Given the description of an element on the screen output the (x, y) to click on. 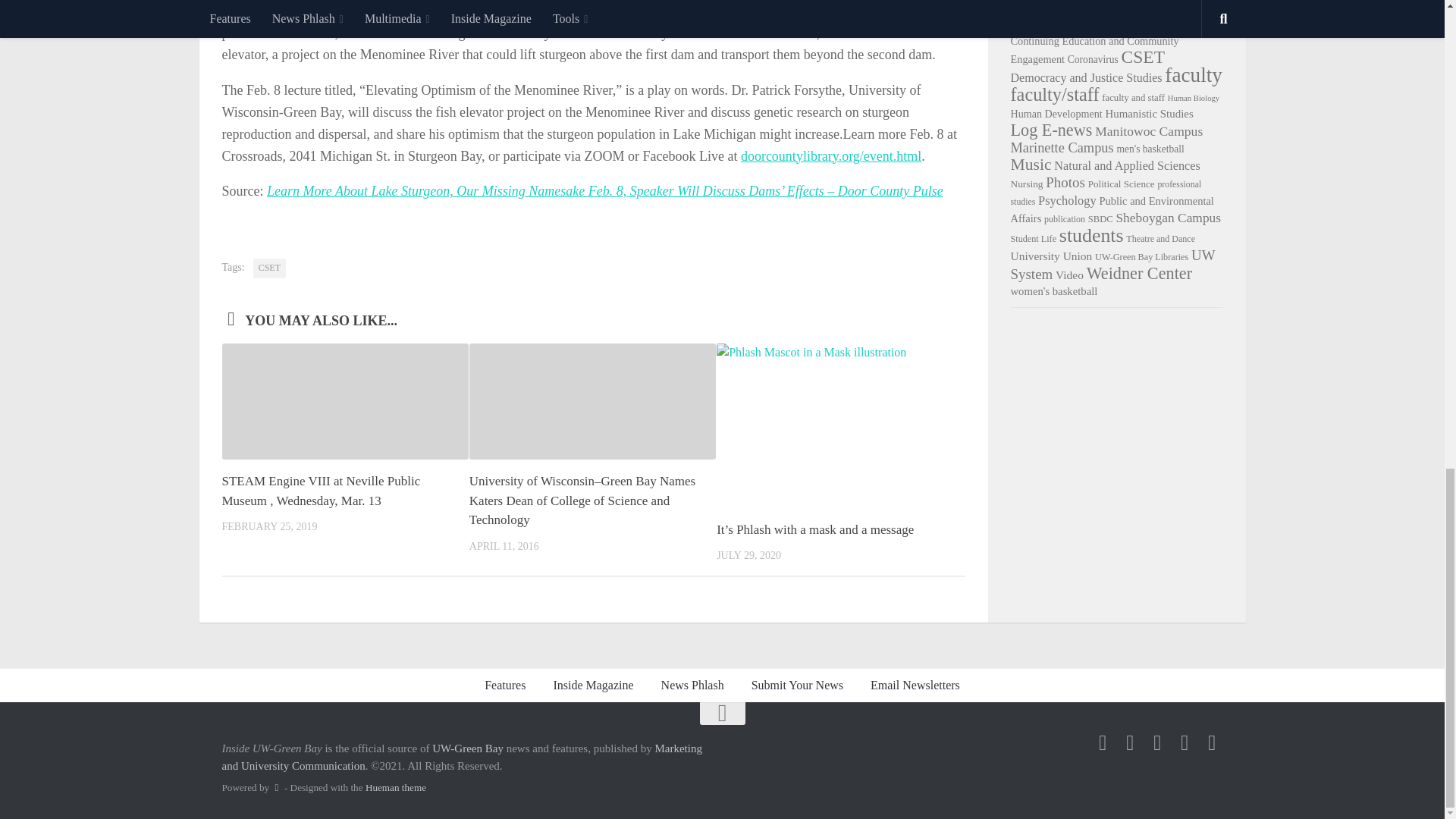
CSET (269, 268)
